Given the description of an element on the screen output the (x, y) to click on. 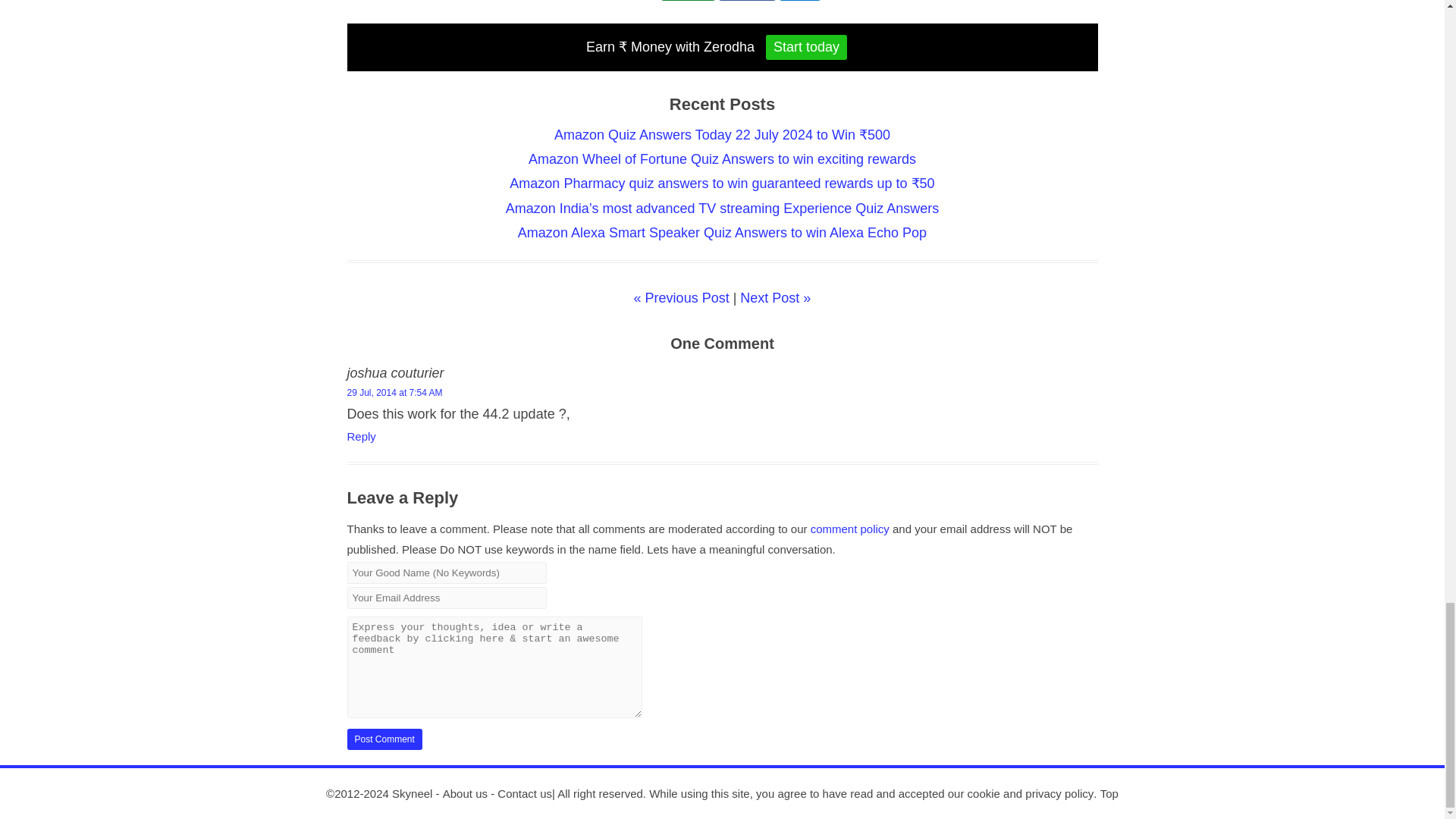
29 Jul, 2014 at 7:54 AM (394, 392)
Reply (361, 436)
Comment Policy (849, 528)
Facebook (747, 0)
comment policy (849, 528)
Twitter (799, 0)
Share on Telegram (688, 0)
Amazon Wheel of Fortune Quiz Answers to win exciting rewards (721, 159)
Share on Facebook (747, 0)
Telegram (688, 0)
Post Comment (384, 739)
Tweet on Twitter (799, 0)
